Given the description of an element on the screen output the (x, y) to click on. 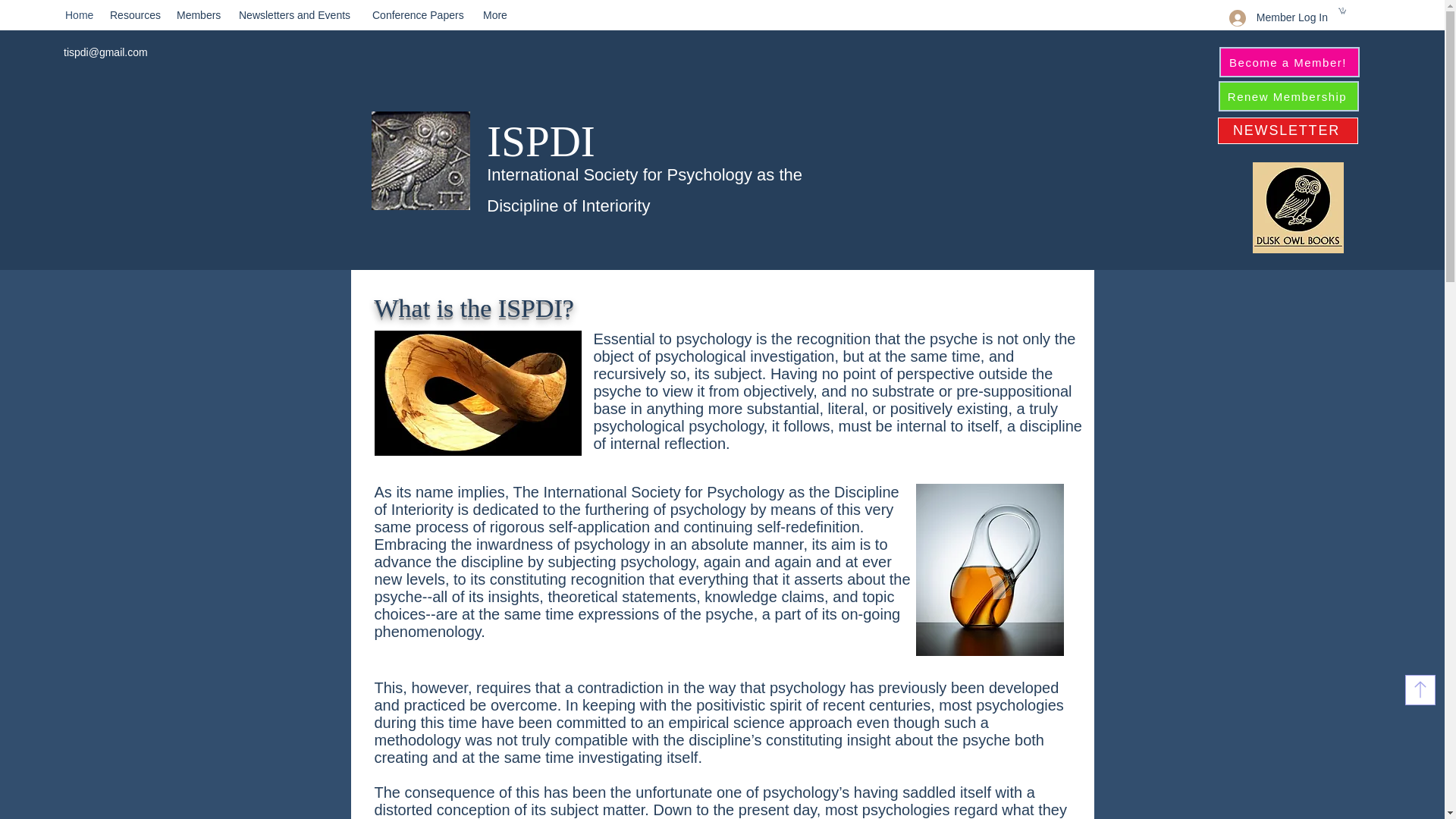
Conference Papers (420, 15)
0 (1341, 10)
Home (79, 15)
Members (199, 15)
